Given the description of an element on the screen output the (x, y) to click on. 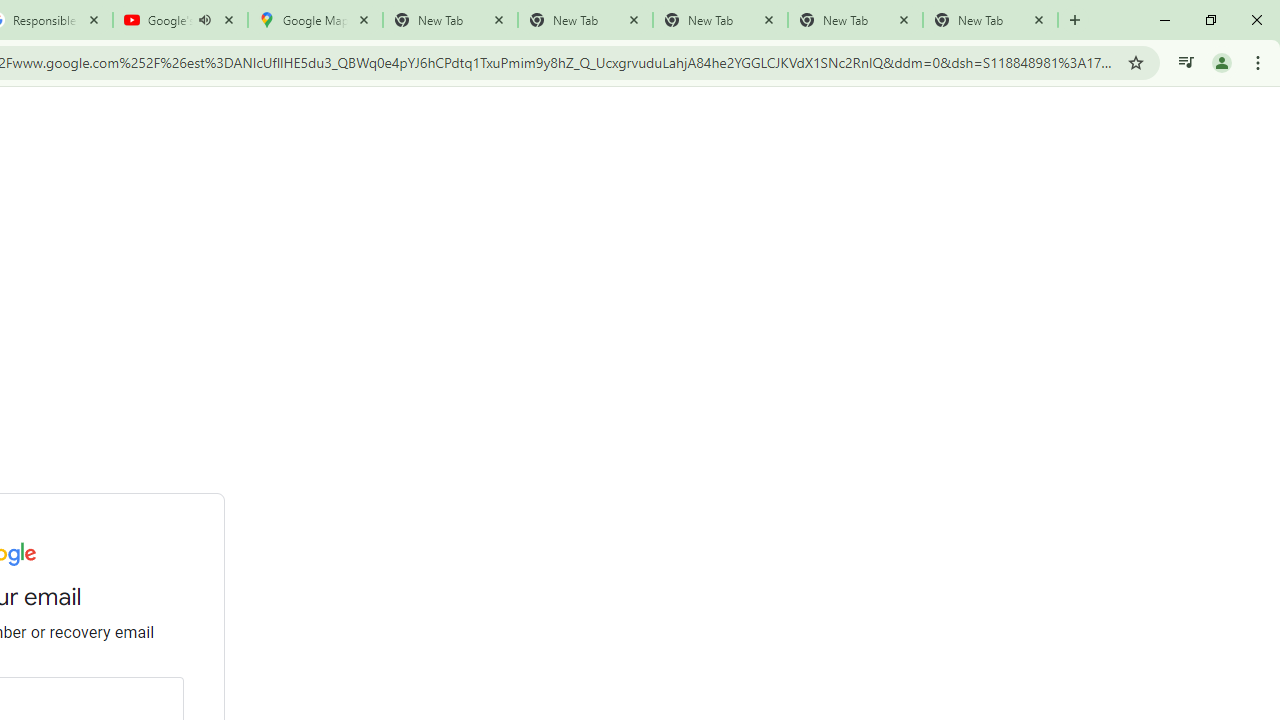
Google Maps (315, 20)
Control your music, videos, and more (1185, 62)
Mute tab (204, 20)
New Tab (990, 20)
